Given the description of an element on the screen output the (x, y) to click on. 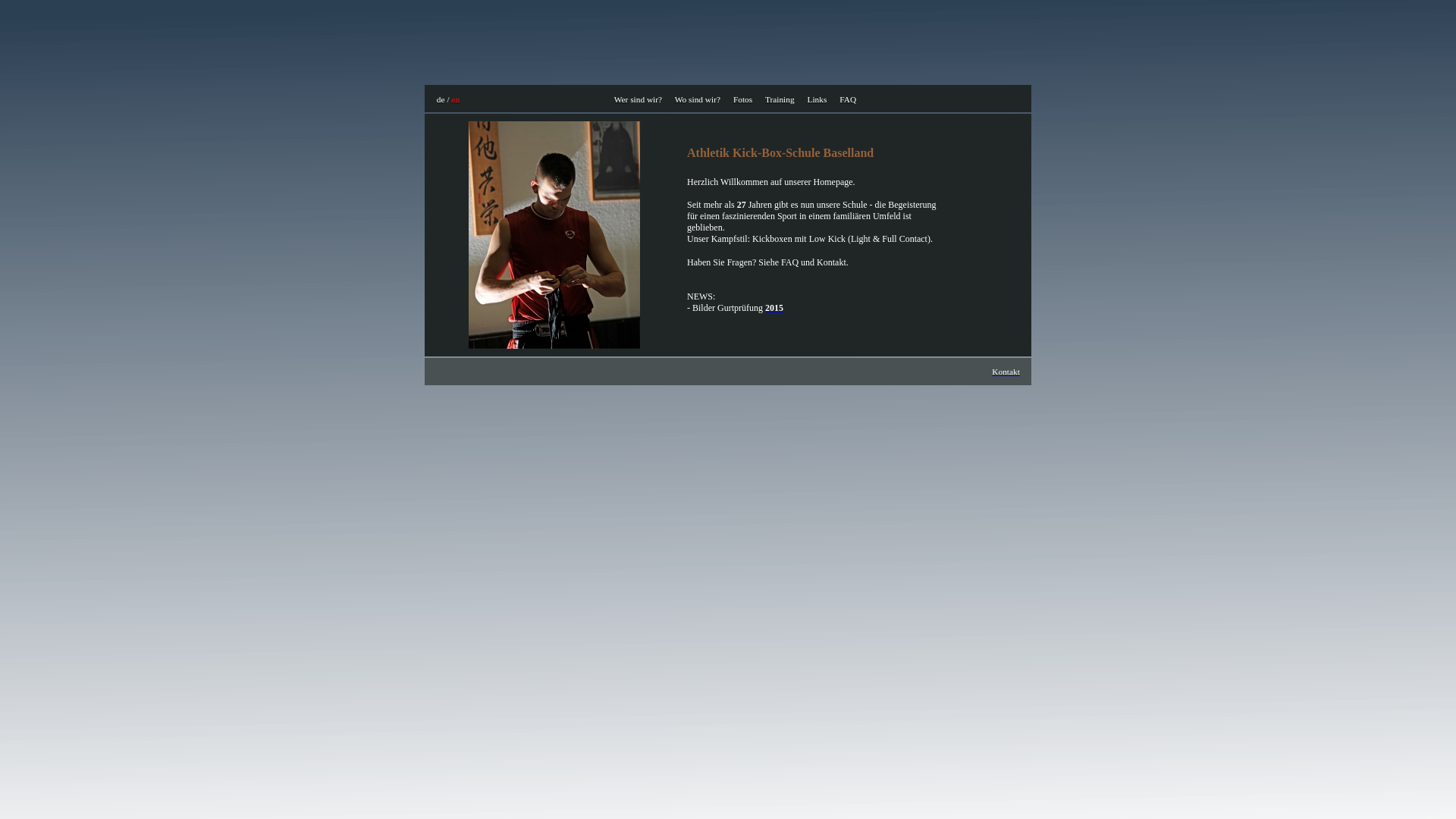
2015 Element type: text (774, 307)
Fotos Element type: text (742, 98)
Kontakt Element type: text (1005, 371)
FAQ Element type: text (847, 98)
en Element type: text (455, 98)
Wo Element type: text (680, 98)
Wer Element type: text (621, 98)
Links Element type: text (817, 98)
Training Element type: text (779, 98)
de Element type: text (440, 98)
